Given the description of an element on the screen output the (x, y) to click on. 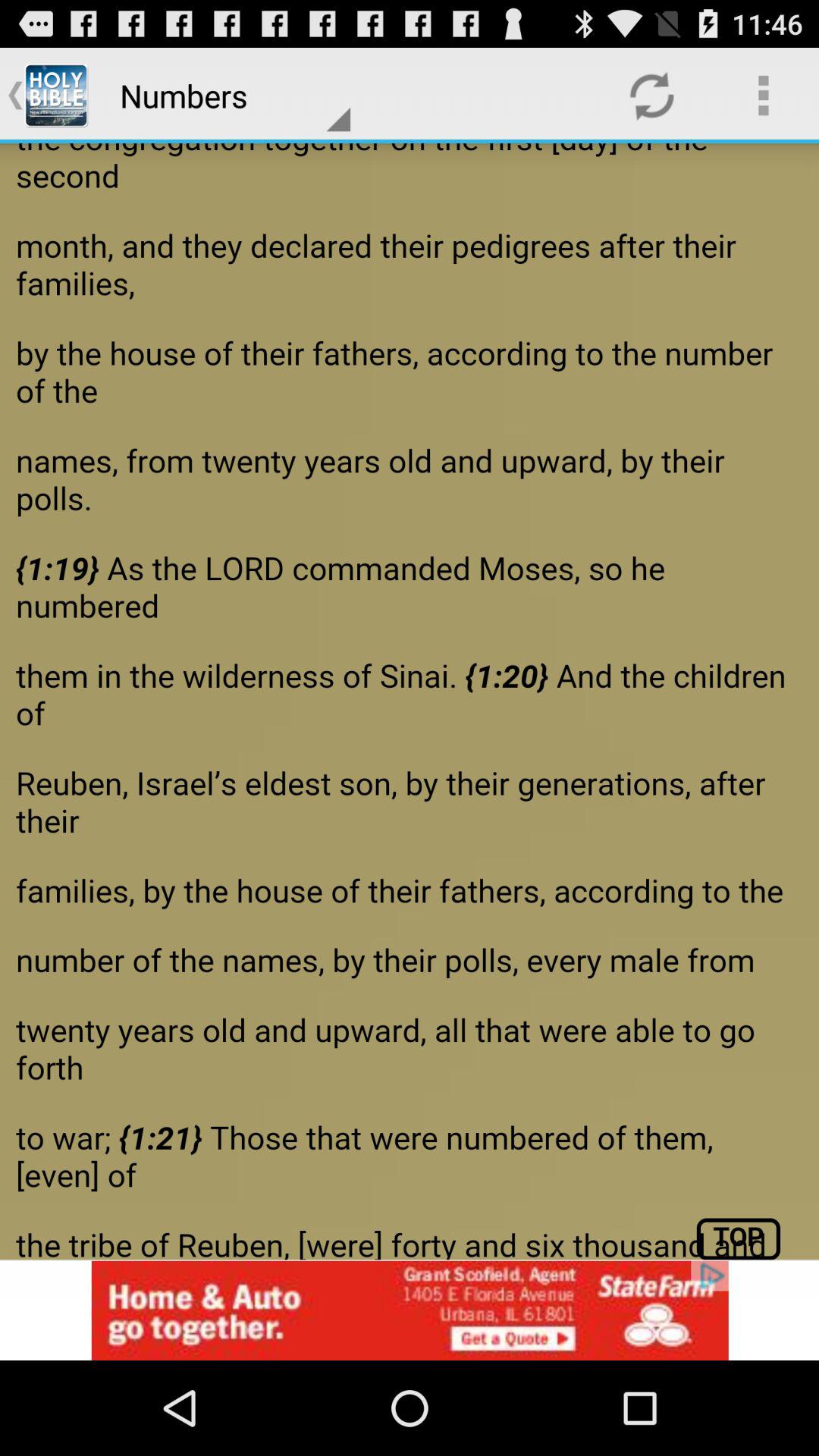
click the add (409, 1310)
